Given the description of an element on the screen output the (x, y) to click on. 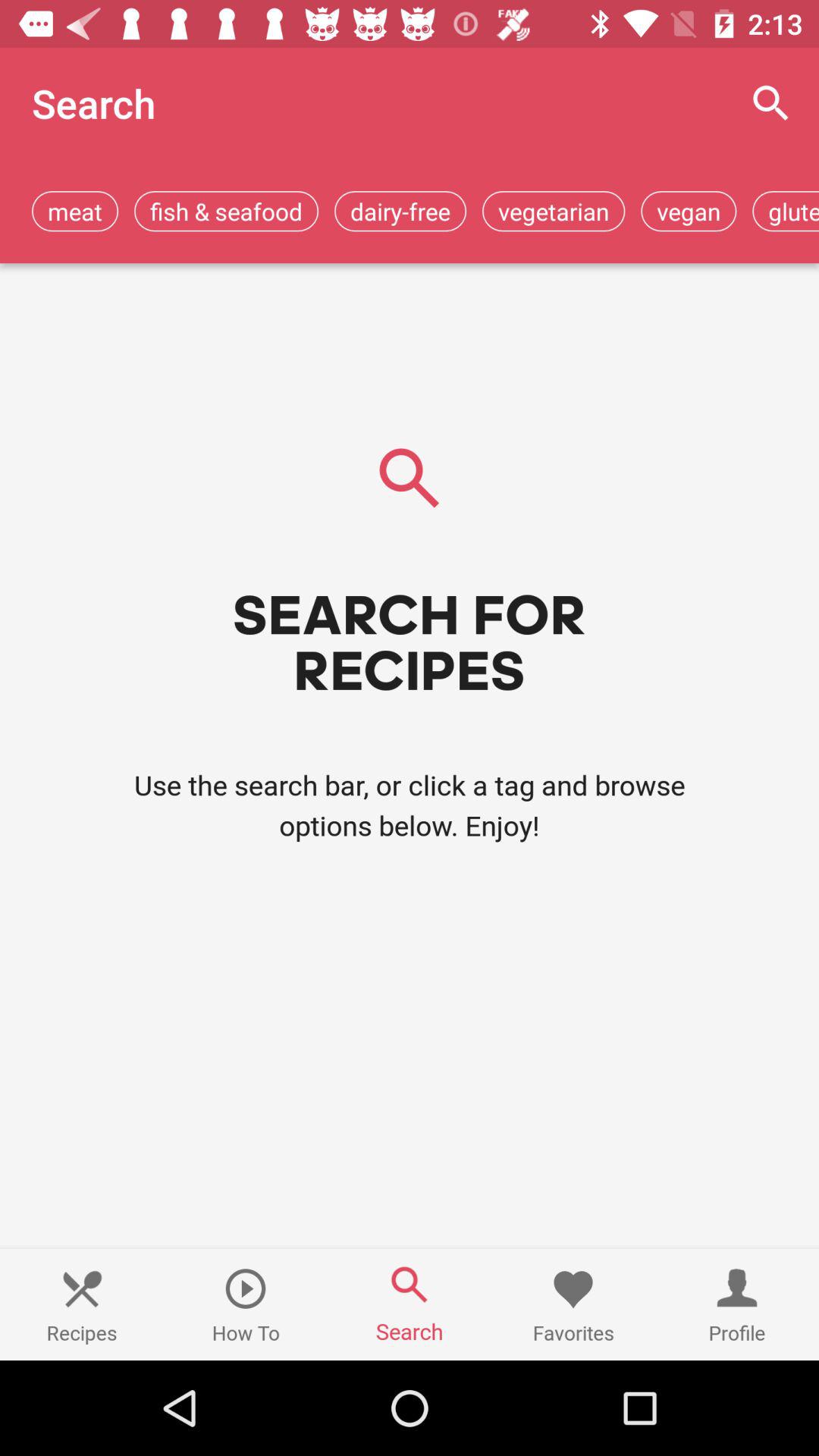
jump to meat item (74, 211)
